Given the description of an element on the screen output the (x, y) to click on. 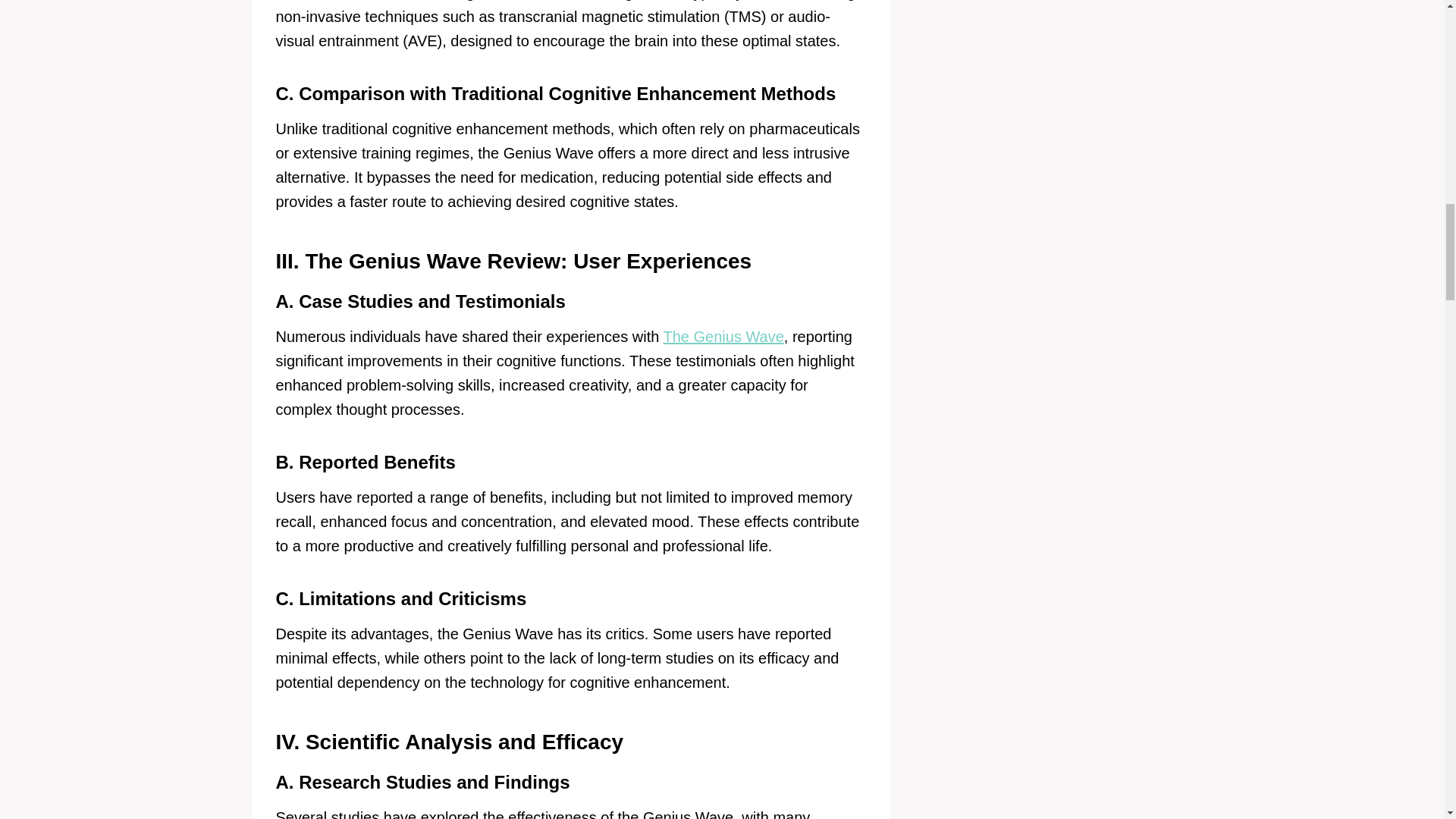
The Genius Wave (723, 336)
